Given the description of an element on the screen output the (x, y) to click on. 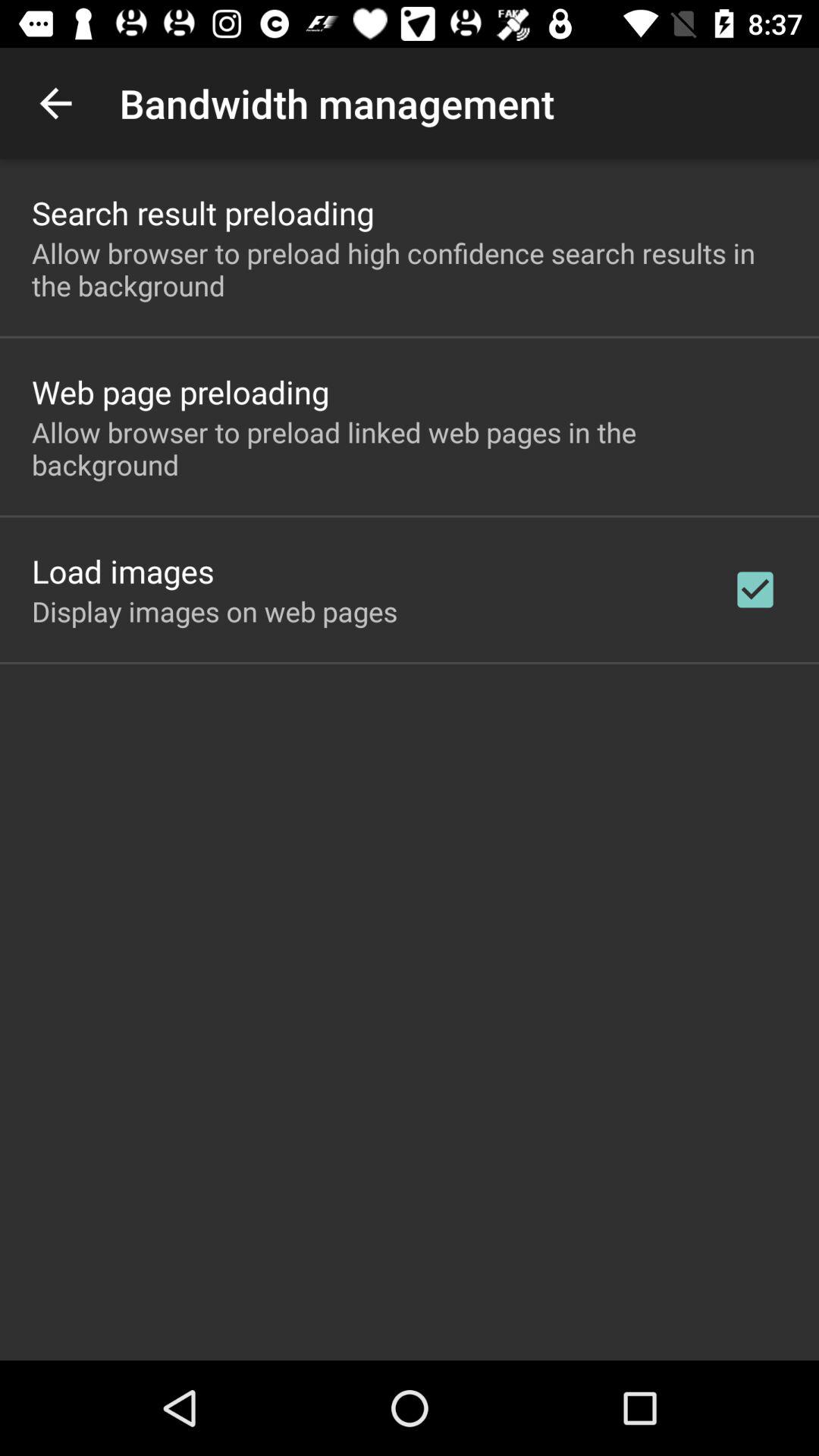
launch the app next to the display images on (755, 589)
